Given the description of an element on the screen output the (x, y) to click on. 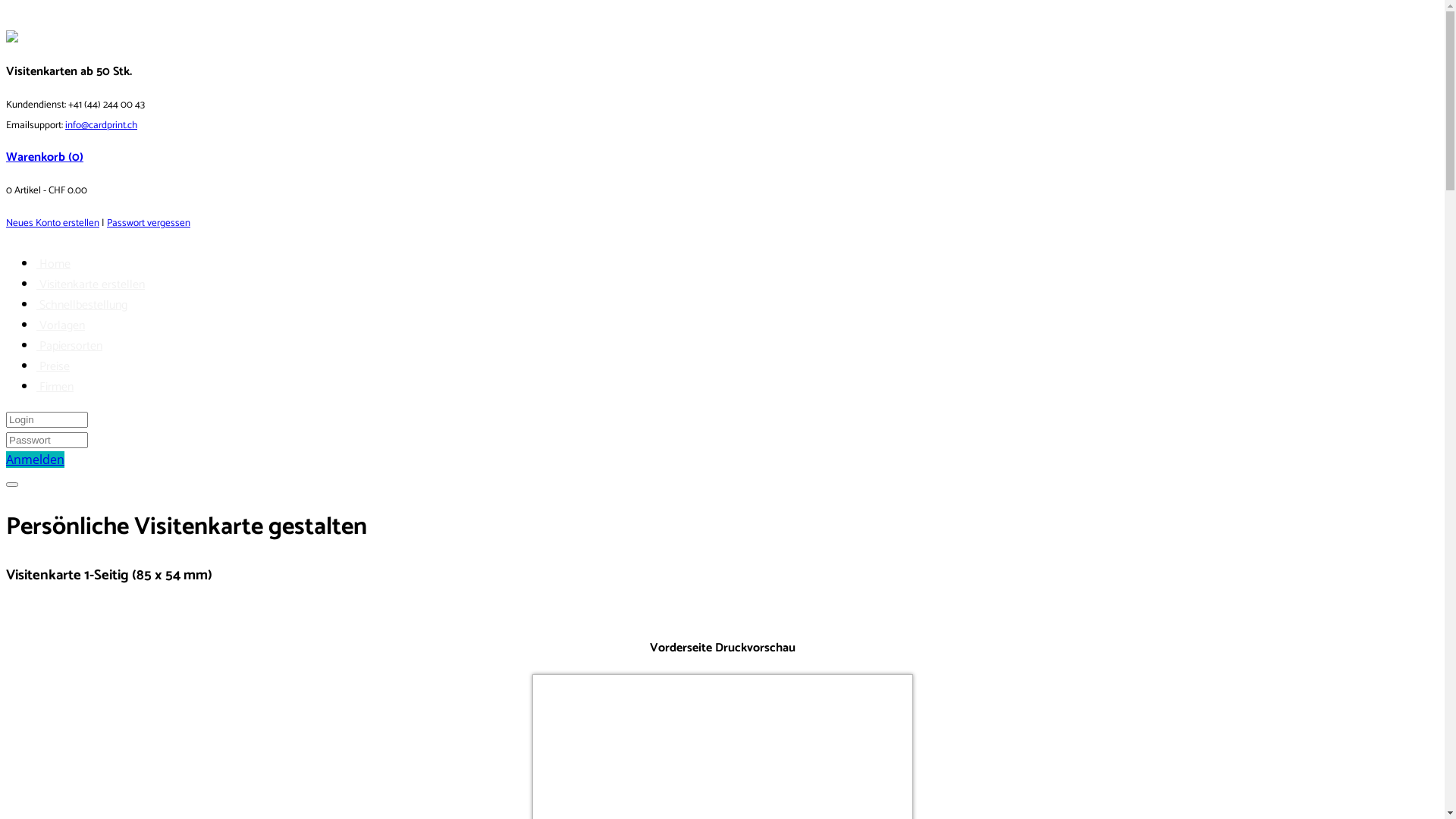
info@cardprint.ch Element type: text (101, 124)
Neues Konto erstellen Element type: text (52, 222)
 Vorlagen Element type: text (60, 325)
 Preise Element type: text (52, 366)
Passwort vergessen Element type: text (148, 222)
 Papiersorten Element type: text (69, 345)
Warenkorb (0) Element type: text (44, 157)
 Home Element type: text (53, 264)
Anmelden Element type: text (35, 459)
 Visitenkarte erstellen Element type: text (90, 284)
 Schnellbestellung Element type: text (81, 304)
 Firmen Element type: text (54, 386)
